Given the description of an element on the screen output the (x, y) to click on. 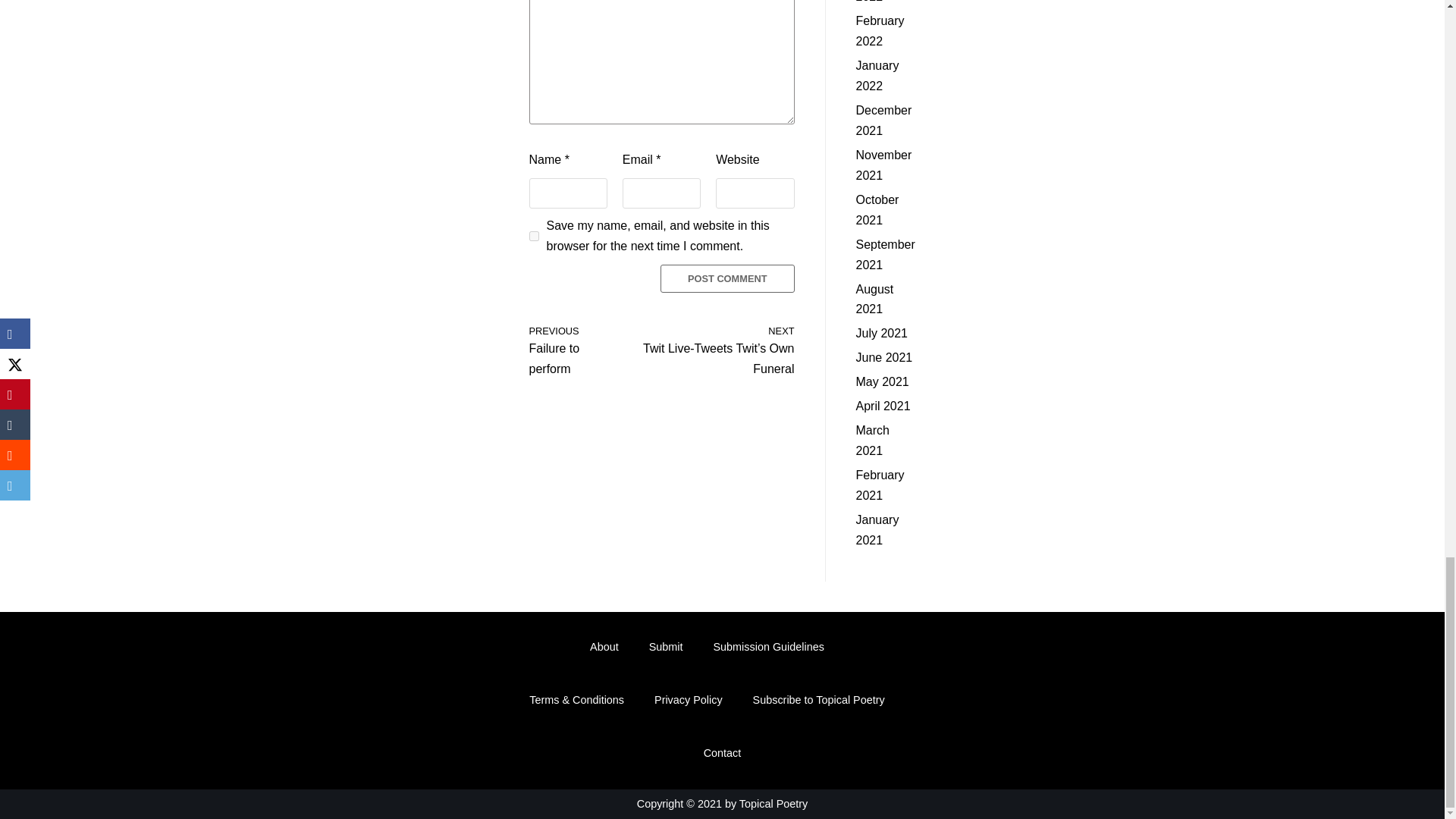
Post Comment (727, 278)
yes (533, 235)
Post Comment (572, 348)
